Given the description of an element on the screen output the (x, y) to click on. 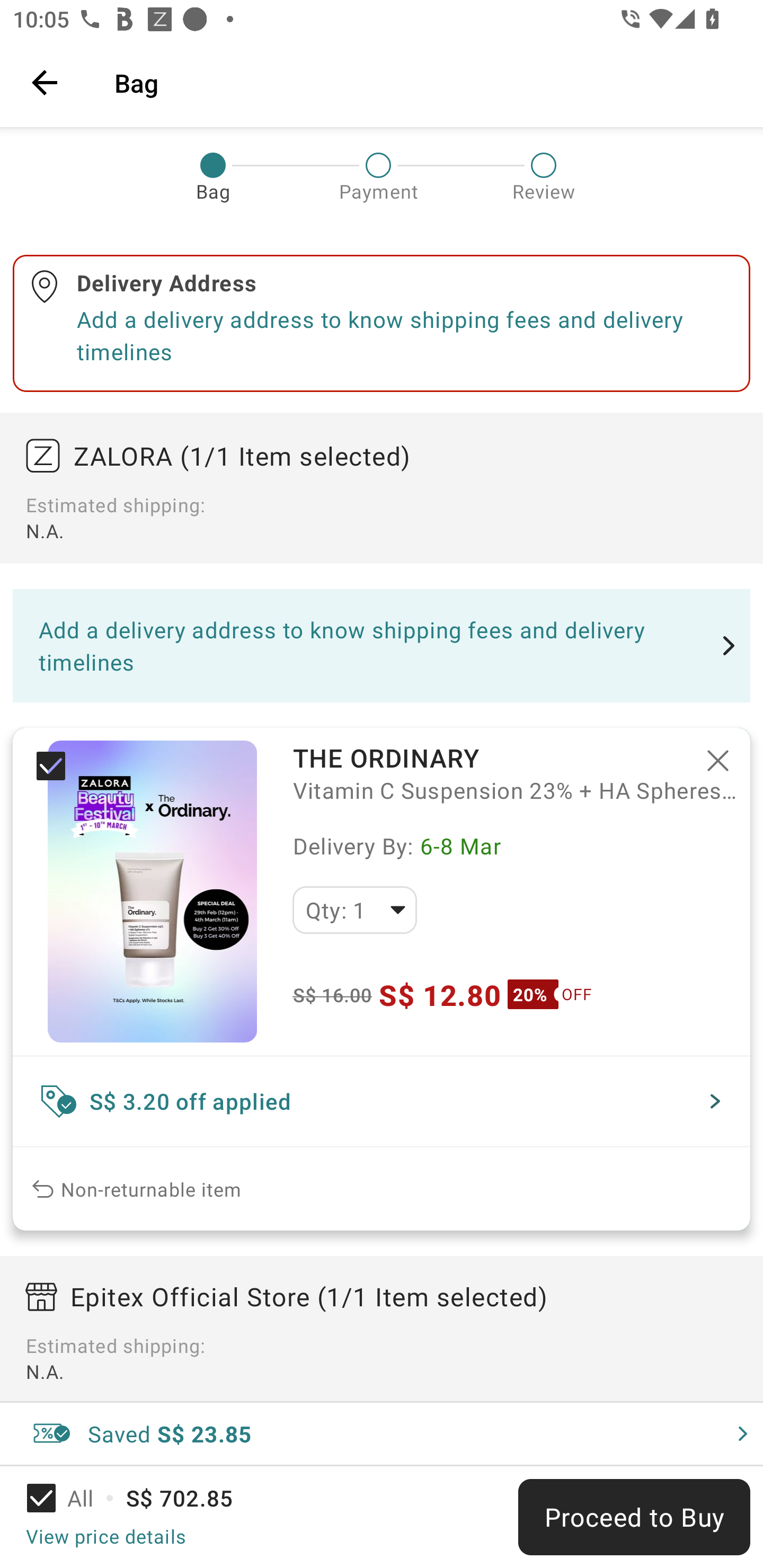
Navigate up (44, 82)
Bag (426, 82)
Qty: 1 (354, 909)
S$ 3.20 off applied (381, 1101)
Saved S$ 23.85 (381, 1433)
All (72, 1497)
Proceed to Buy (634, 1516)
View price details (105, 1535)
